Given the description of an element on the screen output the (x, y) to click on. 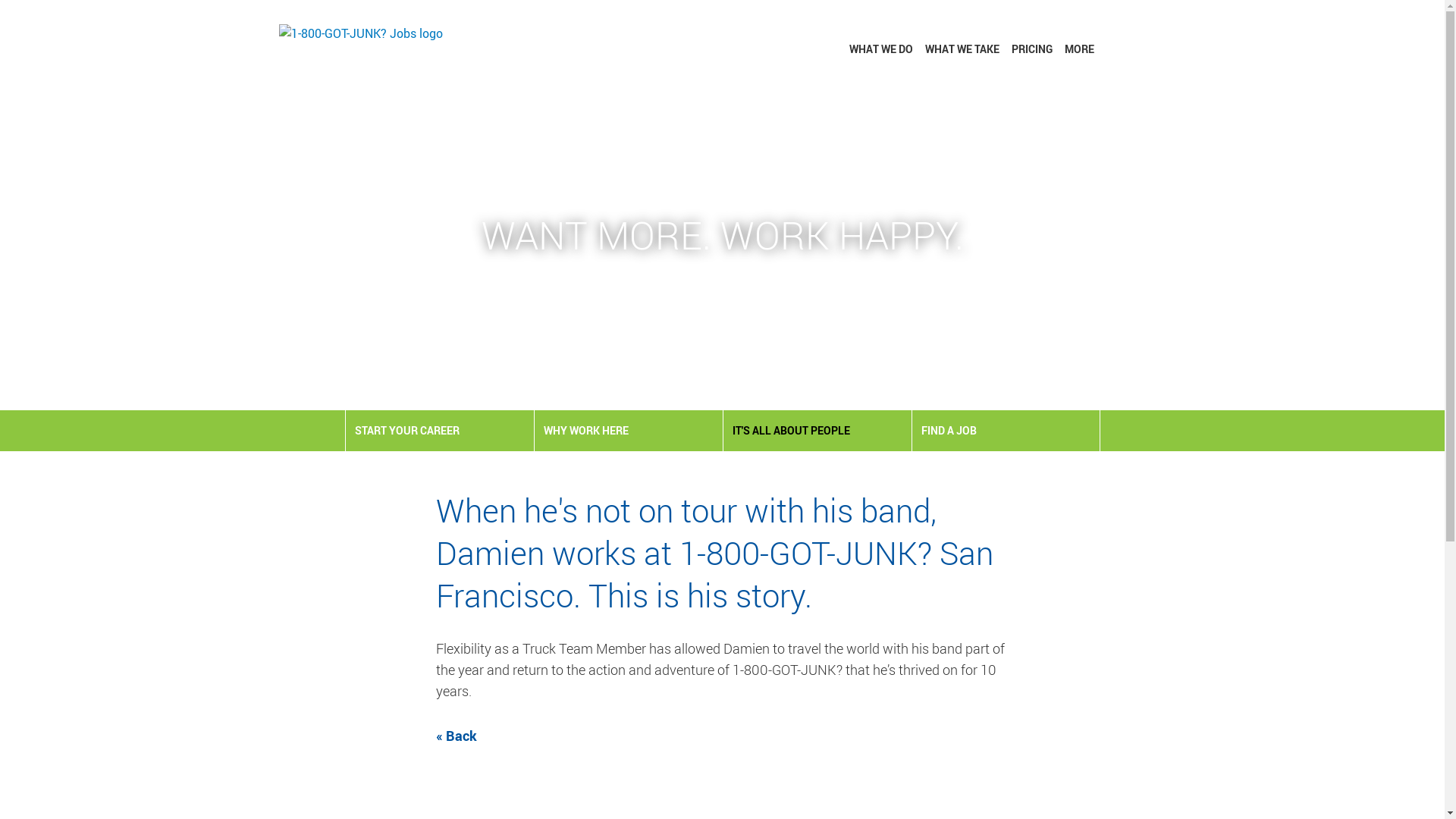
PRICING Element type: text (1031, 48)
FIND A JOB Element type: text (1004, 430)
START YOUR CAREER Element type: text (439, 430)
Image Element type: text (359, 33)
WHAT WE DO Element type: text (881, 48)
WHAT WE TAKE Element type: text (962, 48)
IT'S ALL ABOUT PEOPLE Element type: text (817, 430)
WHY WORK HERE Element type: text (627, 430)
